Given the description of an element on the screen output the (x, y) to click on. 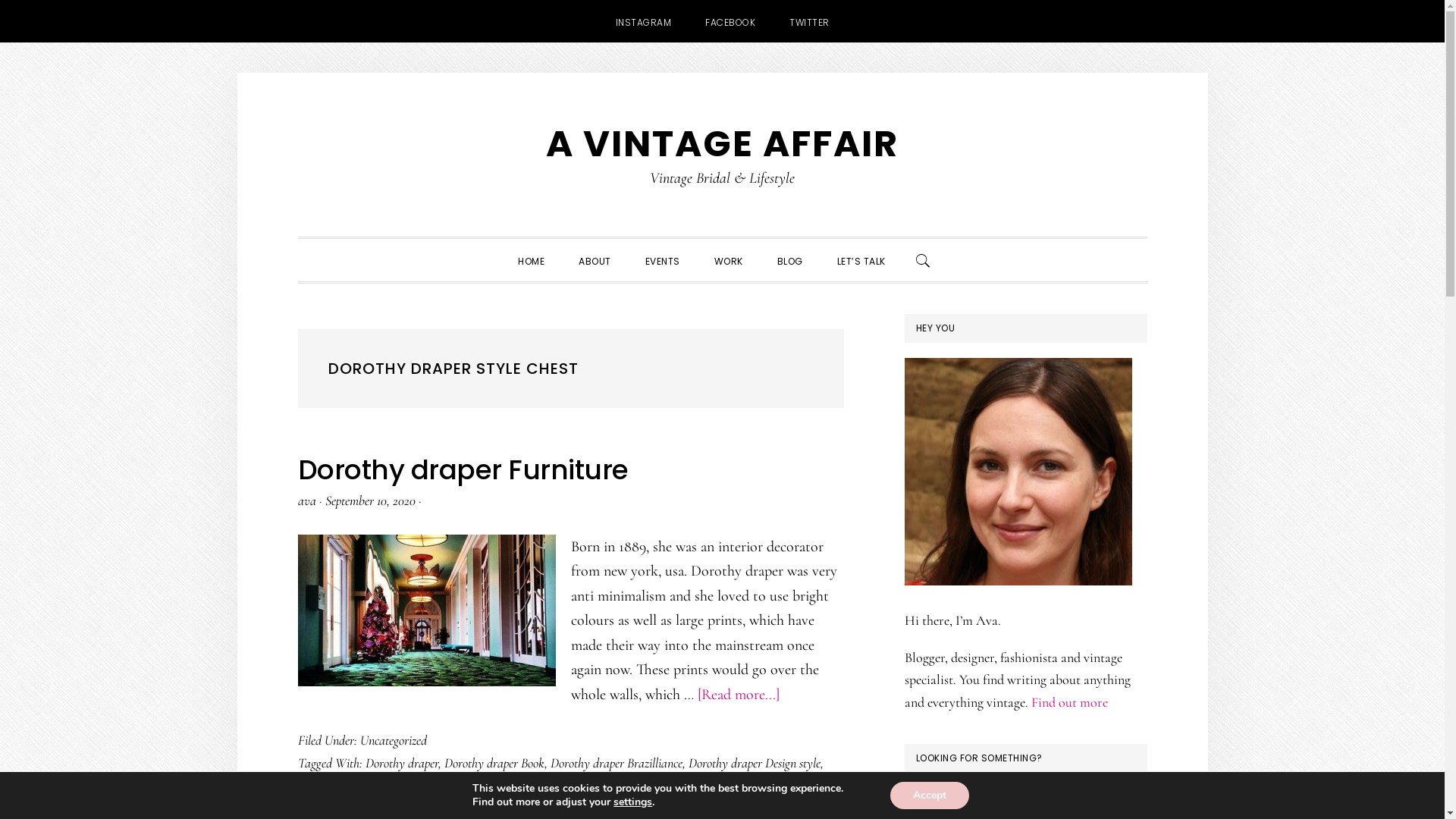
BLOG Element type: text (789, 259)
WORK Element type: text (728, 259)
Dorothy draper Design style Element type: text (754, 762)
FACEBOOK Element type: text (730, 21)
Accept Element type: text (929, 795)
TWITTER Element type: text (809, 21)
Dorothy draper Quotes Element type: text (351, 806)
Dorothy draper Espana Element type: text (352, 784)
Dorothy draper Furniture Element type: text (475, 784)
Dorothy draper Rendered perspective drawing Element type: text (520, 806)
Dorothy draper Brazilliance Element type: text (616, 762)
Dorothy draper Element type: text (401, 762)
Dorothy draper Furniture Element type: text (462, 469)
SHOW SEARCH Element type: text (922, 259)
HOME Element type: text (530, 259)
ava Element type: text (306, 500)
Dorothy draper Greenbrier Element type: text (605, 784)
Uncategorized Element type: text (392, 739)
Dorothy draper Style Element type: text (685, 806)
Search Element type: text (1146, 787)
Skip to primary navigation Element type: text (297, 72)
Find out more Element type: text (1069, 701)
A VINTAGE AFFAIR Element type: text (722, 143)
INSTAGRAM Element type: text (643, 21)
EVENTS Element type: text (661, 259)
Dorothy draper Hampshire house Element type: text (752, 784)
Dorothy draper Book Element type: text (494, 762)
[Read more...]
about Dorothy draper Furniture Element type: text (738, 694)
ABOUT Element type: text (594, 259)
